Given the description of an element on the screen output the (x, y) to click on. 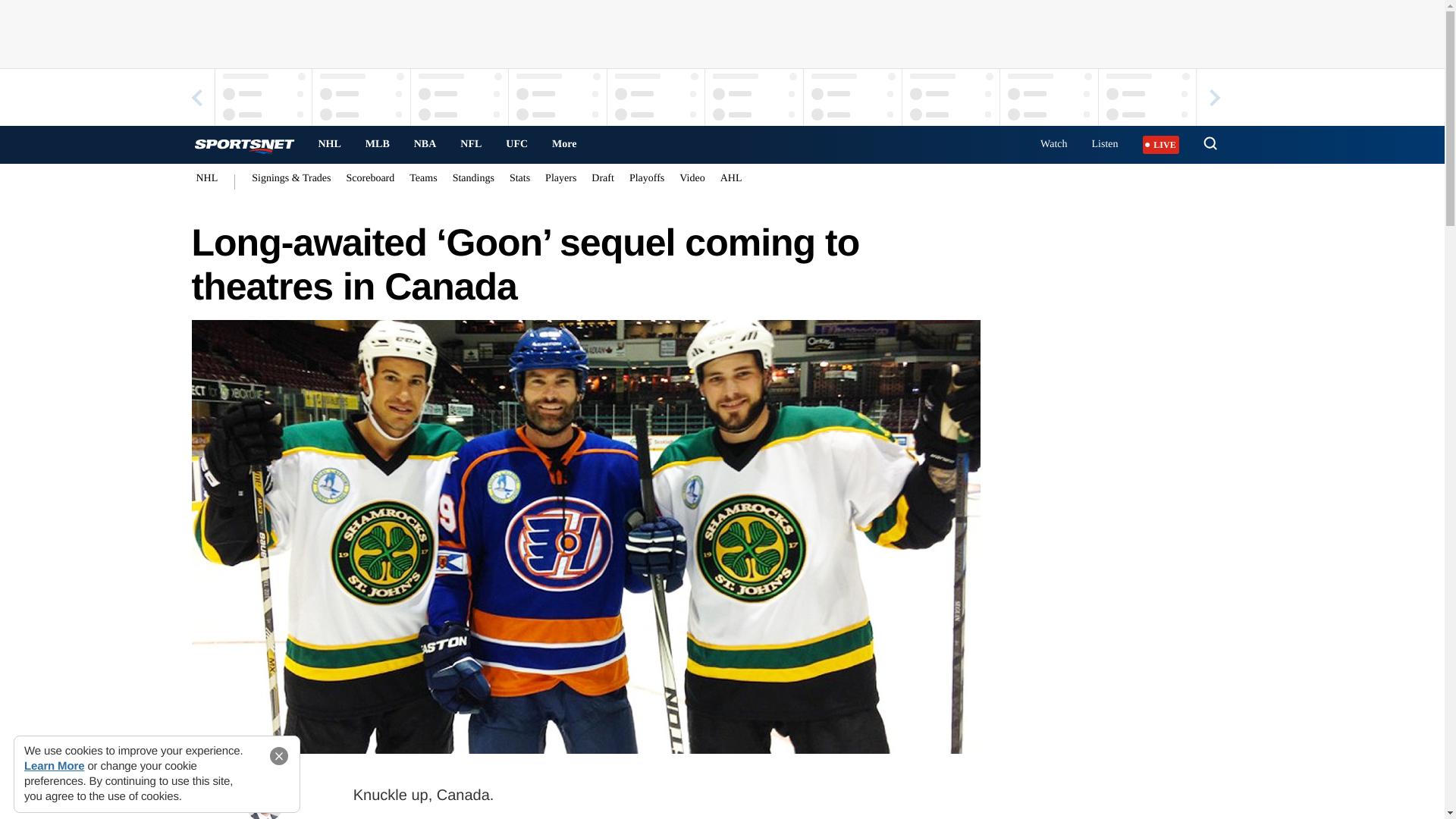
Learn More (54, 766)
NHL (328, 144)
